Given the description of an element on the screen output the (x, y) to click on. 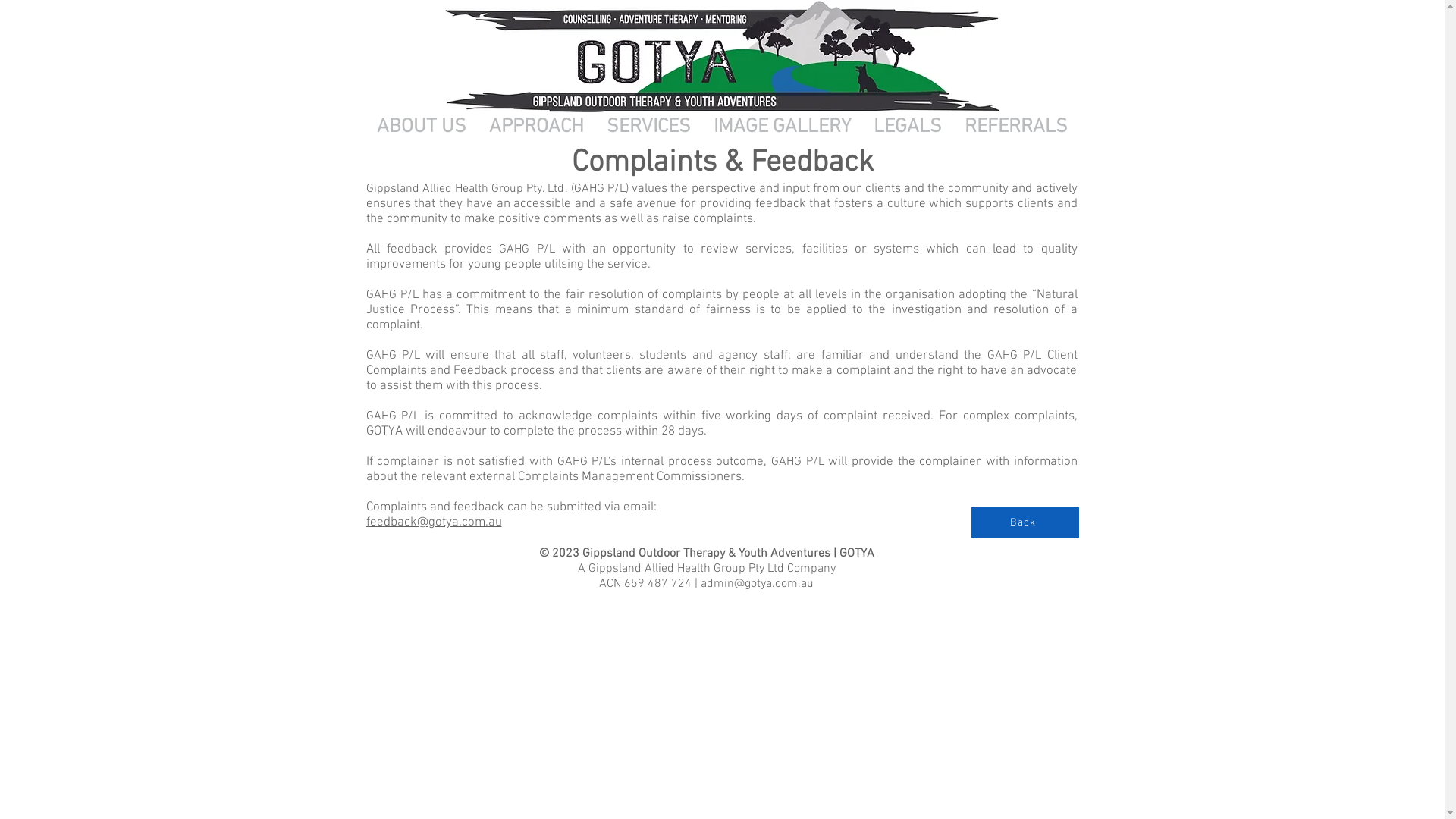
IMAGE GALLERY Element type: text (782, 127)
ABOUT US Element type: text (421, 127)
feedback@gotya.com.au Element type: text (433, 522)
Back Element type: text (1024, 522)
admin@gotya.com.au Element type: text (756, 583)
